Given the description of an element on the screen output the (x, y) to click on. 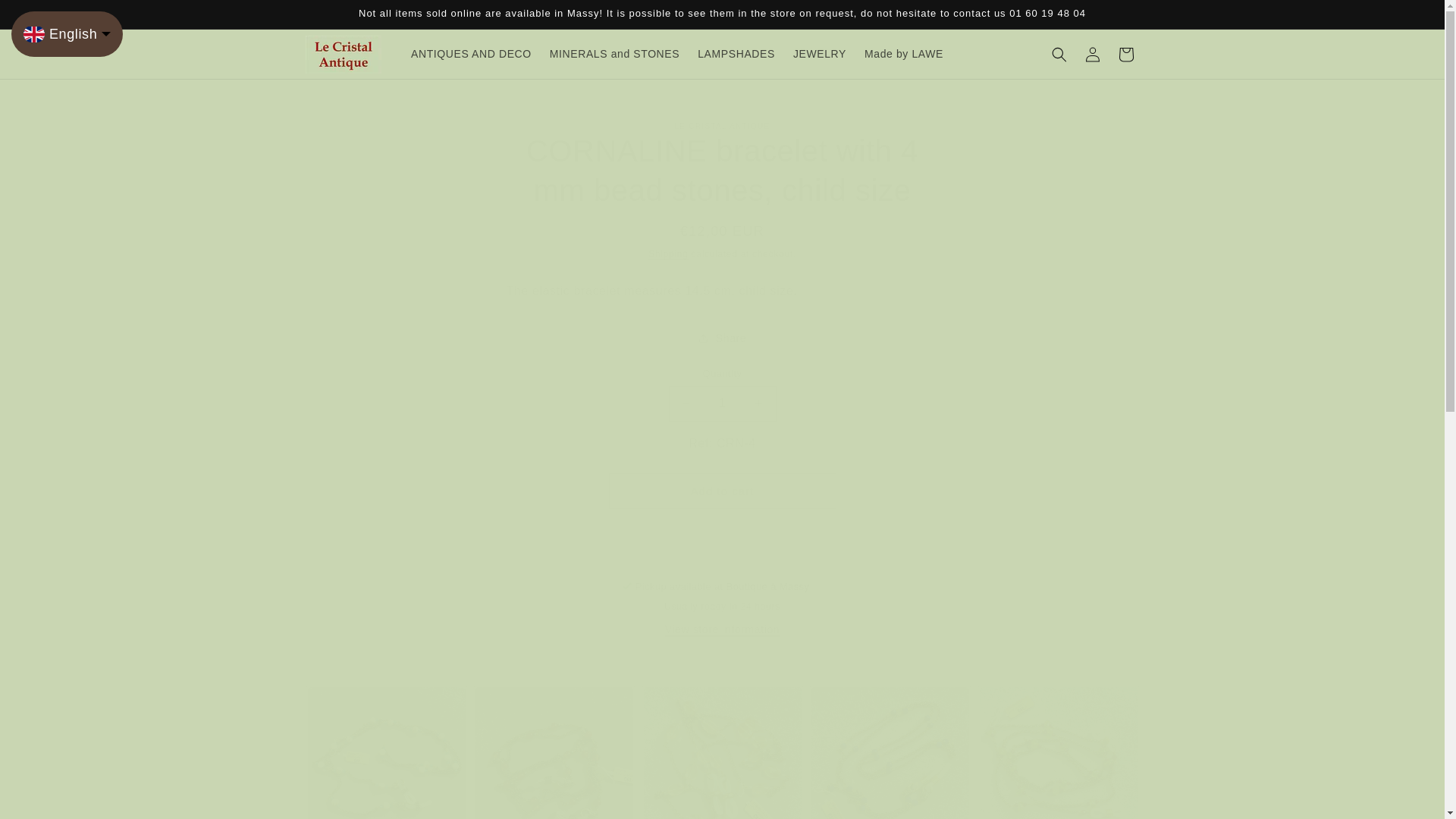
MINERALS and STONES (614, 53)
ANTIQUES AND DECO (470, 53)
View store information (721, 630)
JEWELRY (820, 53)
Log in (1091, 54)
Shipping (667, 253)
Add to cart (721, 490)
Made by LAWE (904, 53)
Skip to content (45, 17)
LAMPSHADES (736, 53)
Skip to product information (550, 123)
1 (722, 403)
Cart (1124, 54)
